Given the description of an element on the screen output the (x, y) to click on. 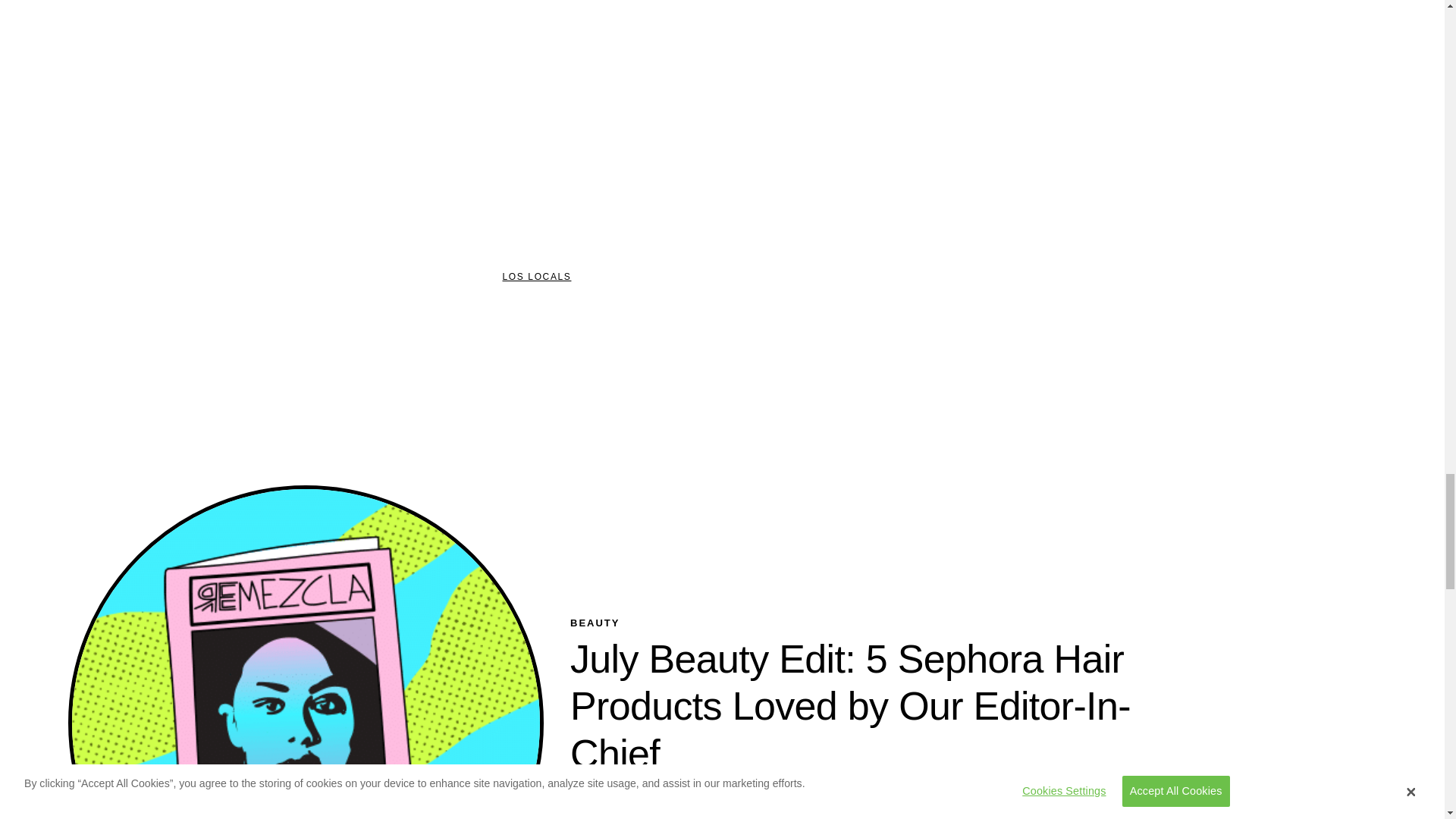
Moses Sumney Replaceable (722, 118)
LOS LOCALS (536, 277)
